Given the description of an element on the screen output the (x, y) to click on. 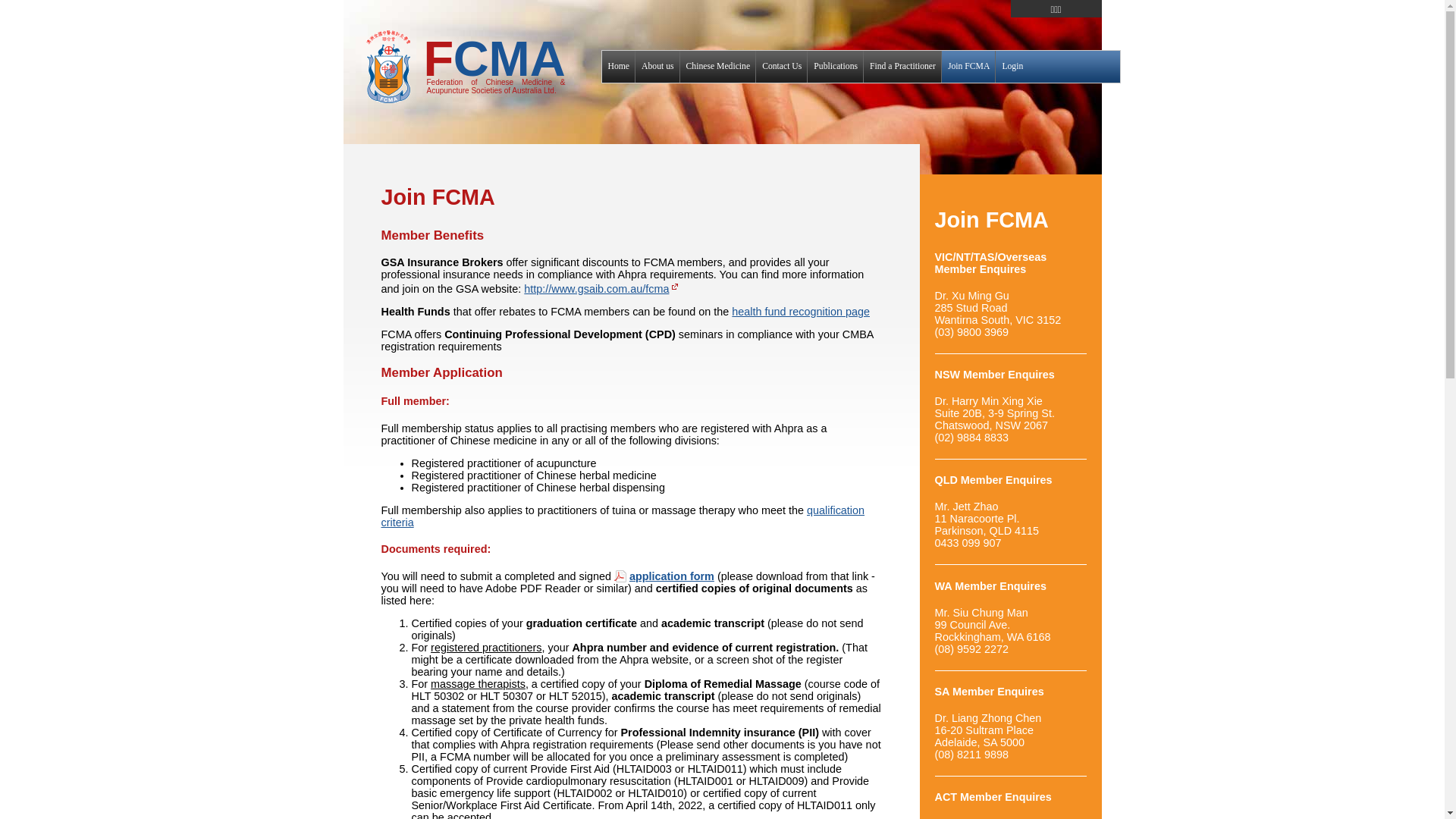
Publications Element type: text (834, 66)
Find a Practitioner Element type: text (902, 66)
application form Element type: text (664, 576)
health fund recognition page Element type: text (800, 311)
qualification criteria Element type: text (622, 516)
Join FCMA Element type: text (967, 66)
Chinese Medicine Element type: text (718, 66)
Login Element type: text (1011, 66)
About us Element type: text (656, 66)
Home Element type: text (618, 66)
Contact Us Element type: text (781, 66)
http://www.gsaib.com.au/fcma Element type: text (596, 288)
